Given the description of an element on the screen output the (x, y) to click on. 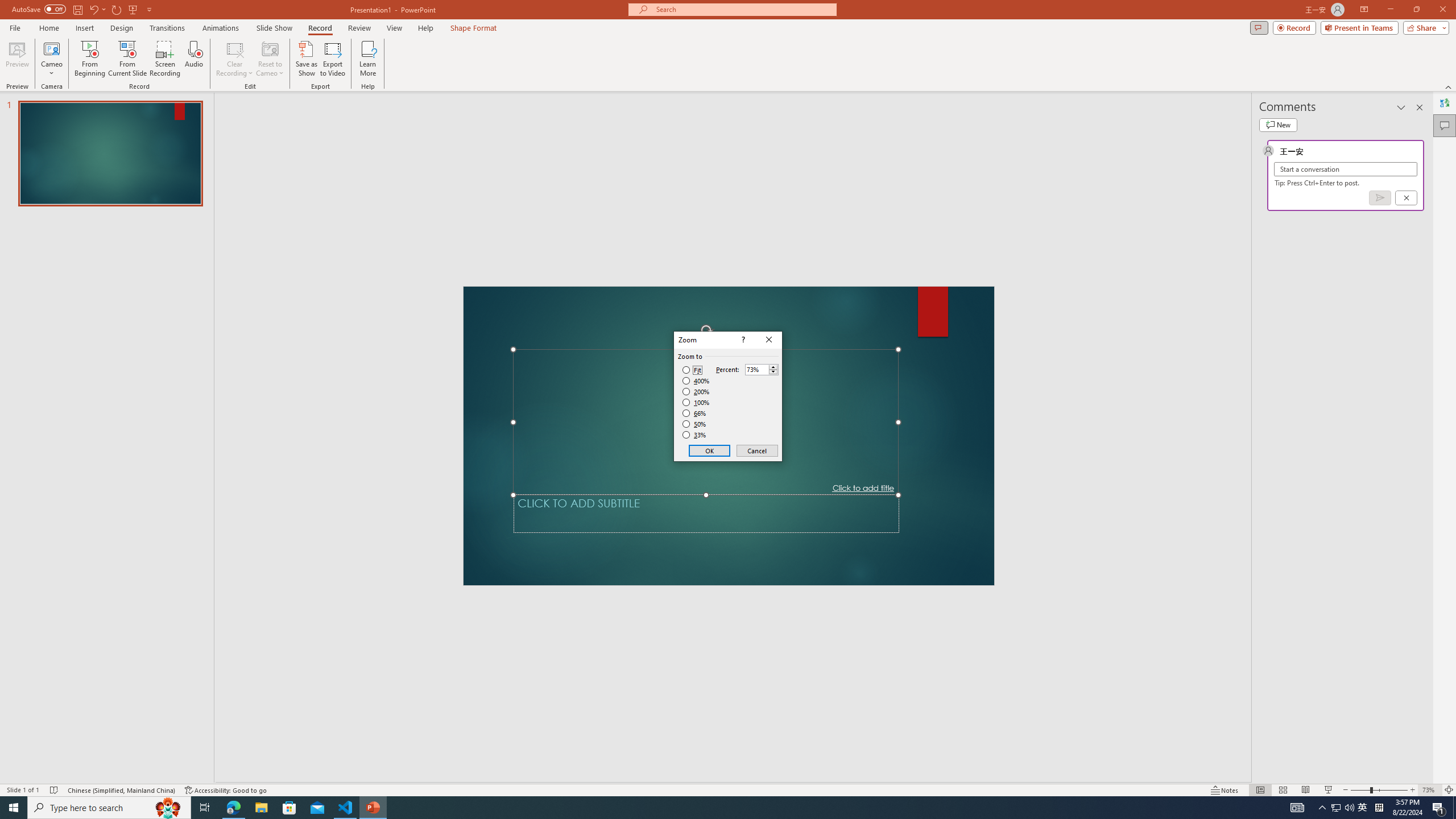
33% (694, 434)
Fit (691, 370)
Running applications (707, 807)
Learn More (368, 58)
100% (696, 402)
Accessibility Checker Accessibility: Good to go (226, 790)
Action Center, 1 new notification (1439, 807)
PowerPoint - 1 running window (373, 807)
Reset to Cameo (269, 58)
